Given the description of an element on the screen output the (x, y) to click on. 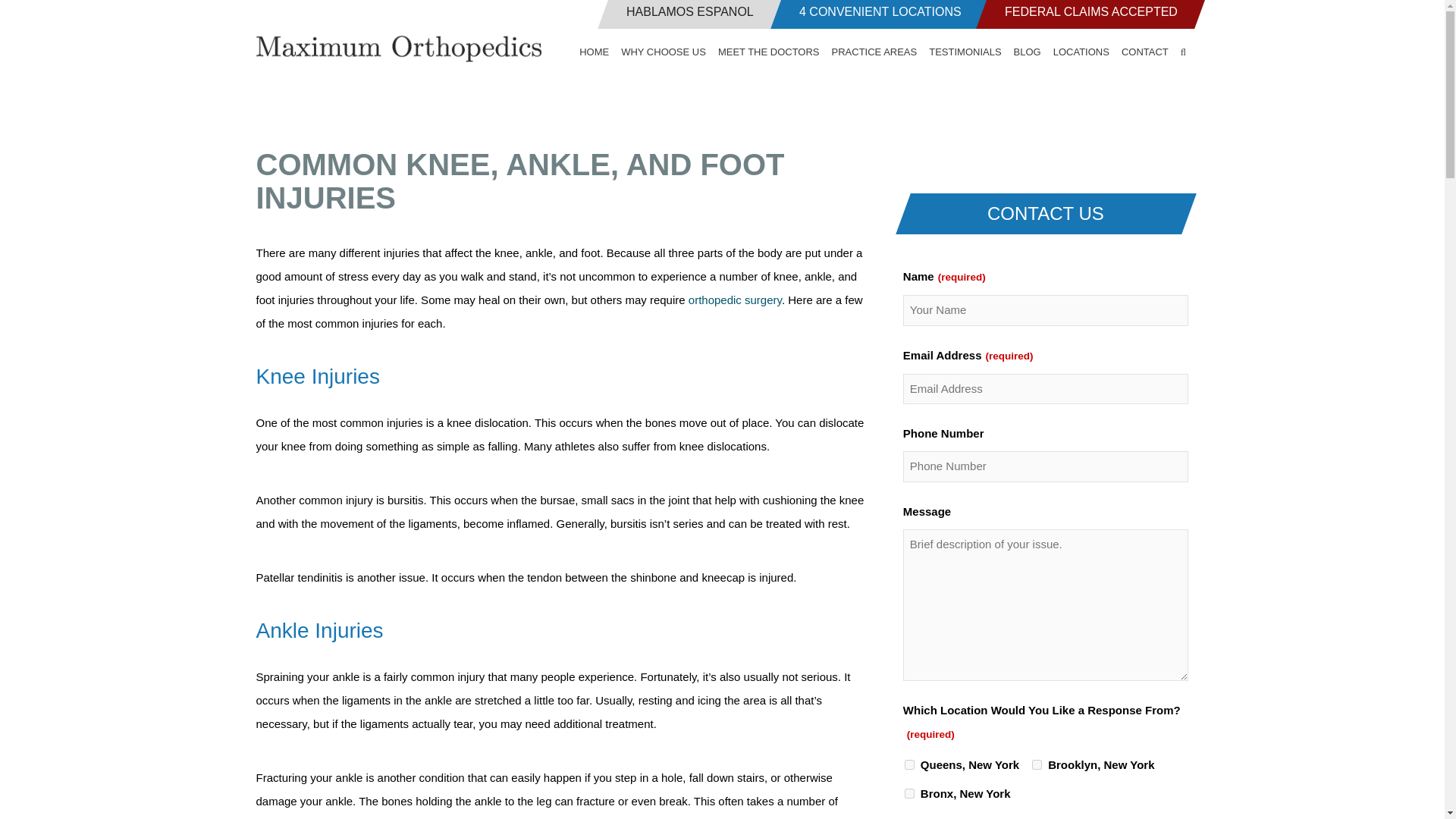
FEDERAL CLAIMS ACCEPTED (1084, 14)
LOCATIONS (1080, 51)
WHY CHOOSE US (662, 51)
HOME (596, 51)
Brooklyn, New York (1037, 764)
4 CONVENIENT LOCATIONS (874, 14)
Bronx, New York (909, 793)
MEET THE DOCTORS (768, 51)
TESTIMONIALS (965, 51)
PRACTICE AREAS (874, 51)
